Given the description of an element on the screen output the (x, y) to click on. 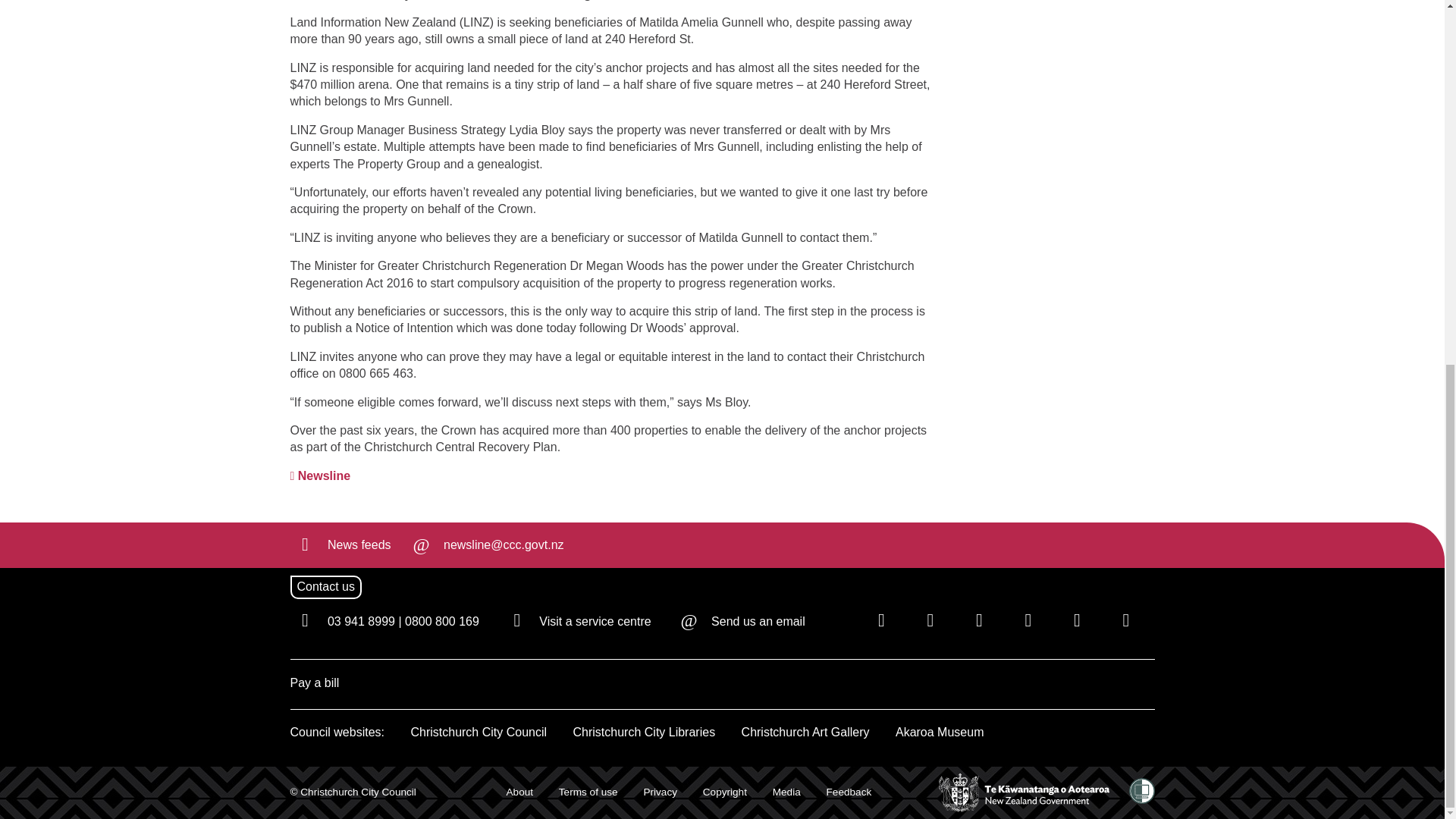
News feeds (339, 544)
Newsline (319, 475)
Send us an email (485, 544)
